Given the description of an element on the screen output the (x, y) to click on. 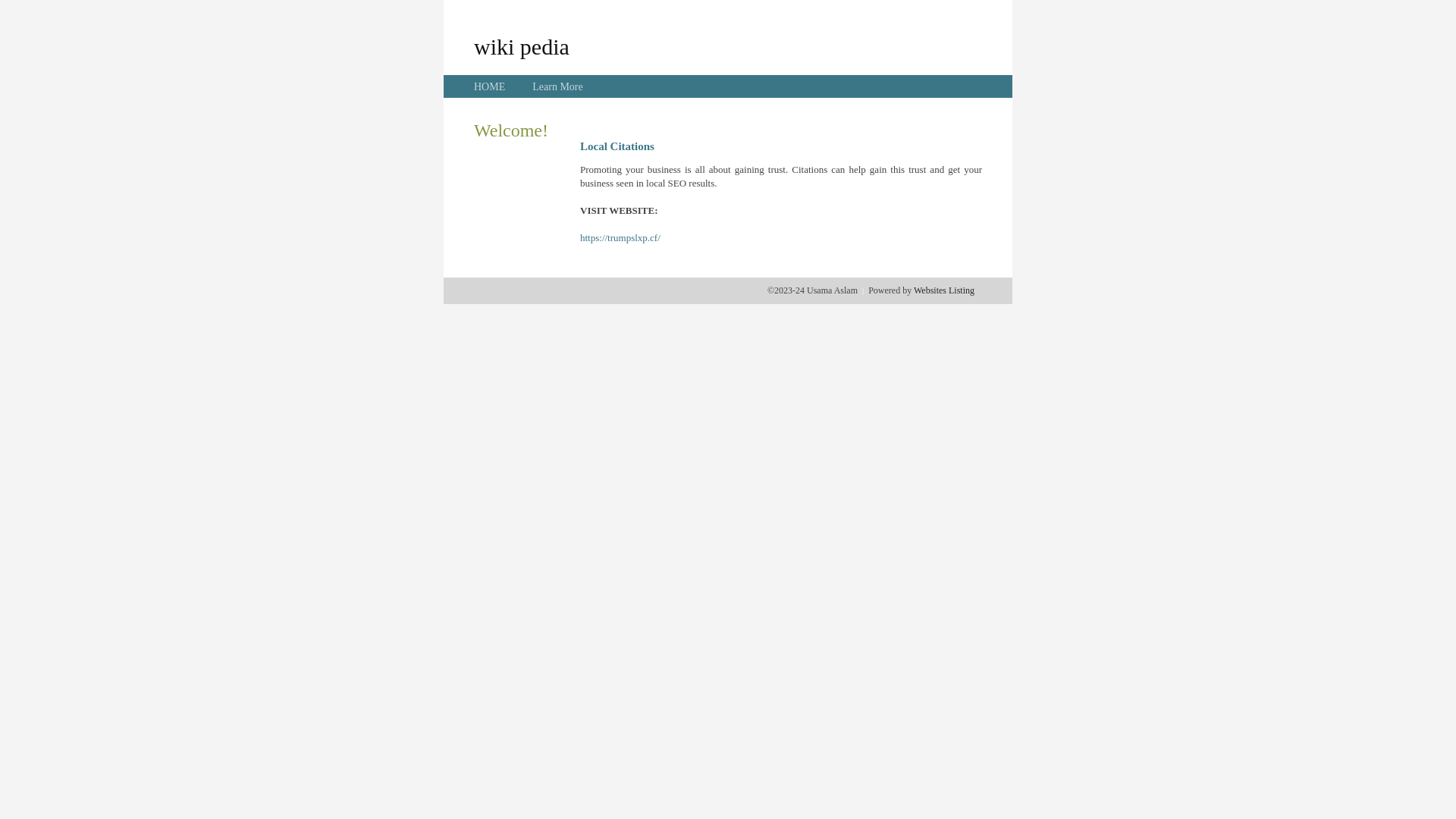
Websites Listing Element type: text (943, 290)
HOME Element type: text (489, 86)
Learn More Element type: text (557, 86)
https://trumpslxp.cf/ Element type: text (620, 237)
wiki pedia Element type: text (521, 46)
